Given the description of an element on the screen output the (x, y) to click on. 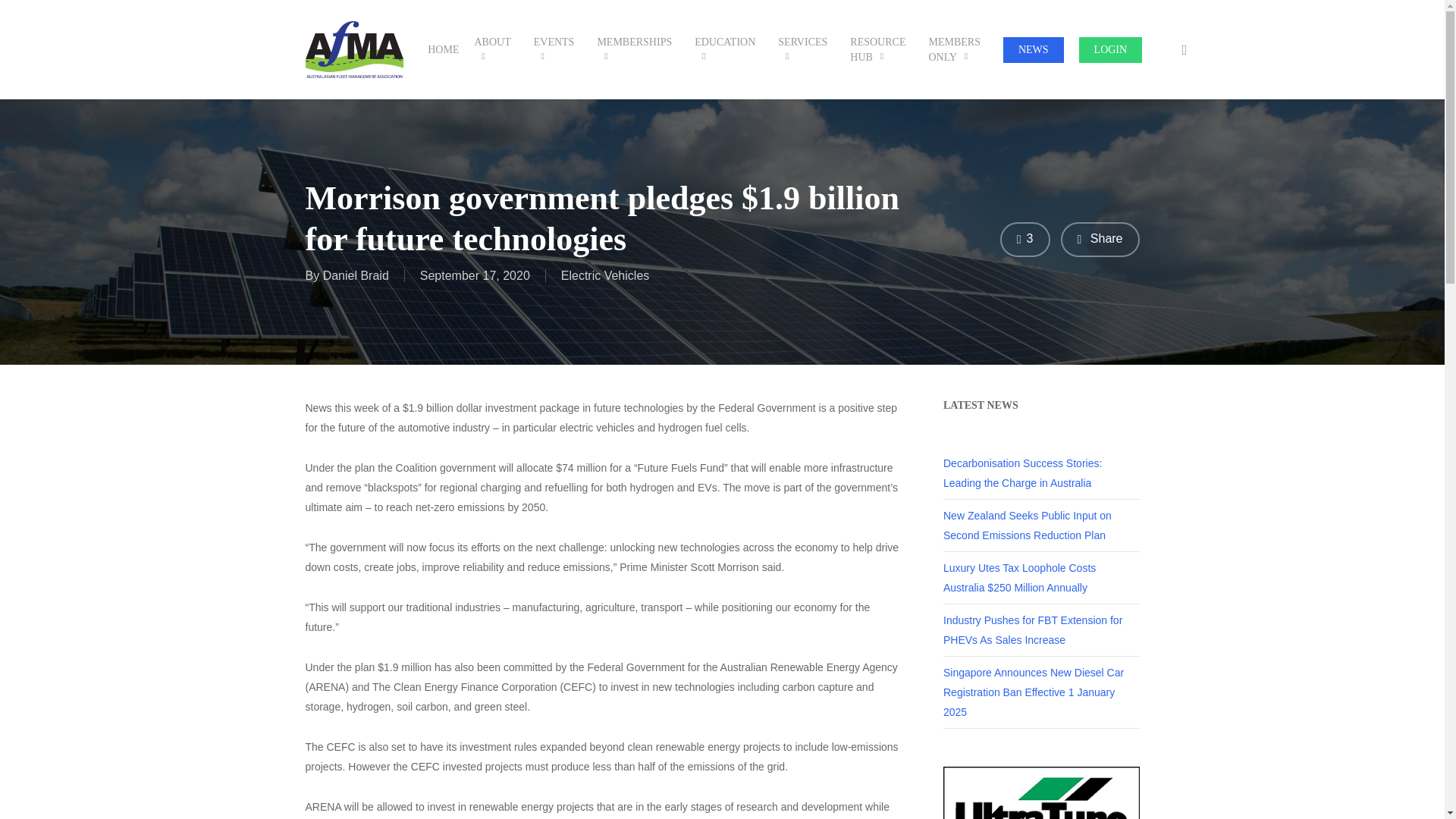
MEMBERSHIPS (638, 50)
Love this (1024, 239)
ABOUT (495, 50)
EVENTS (557, 50)
Posts by Daniel Braid (355, 275)
HOME (442, 49)
EDUCATION (728, 50)
